Given the description of an element on the screen output the (x, y) to click on. 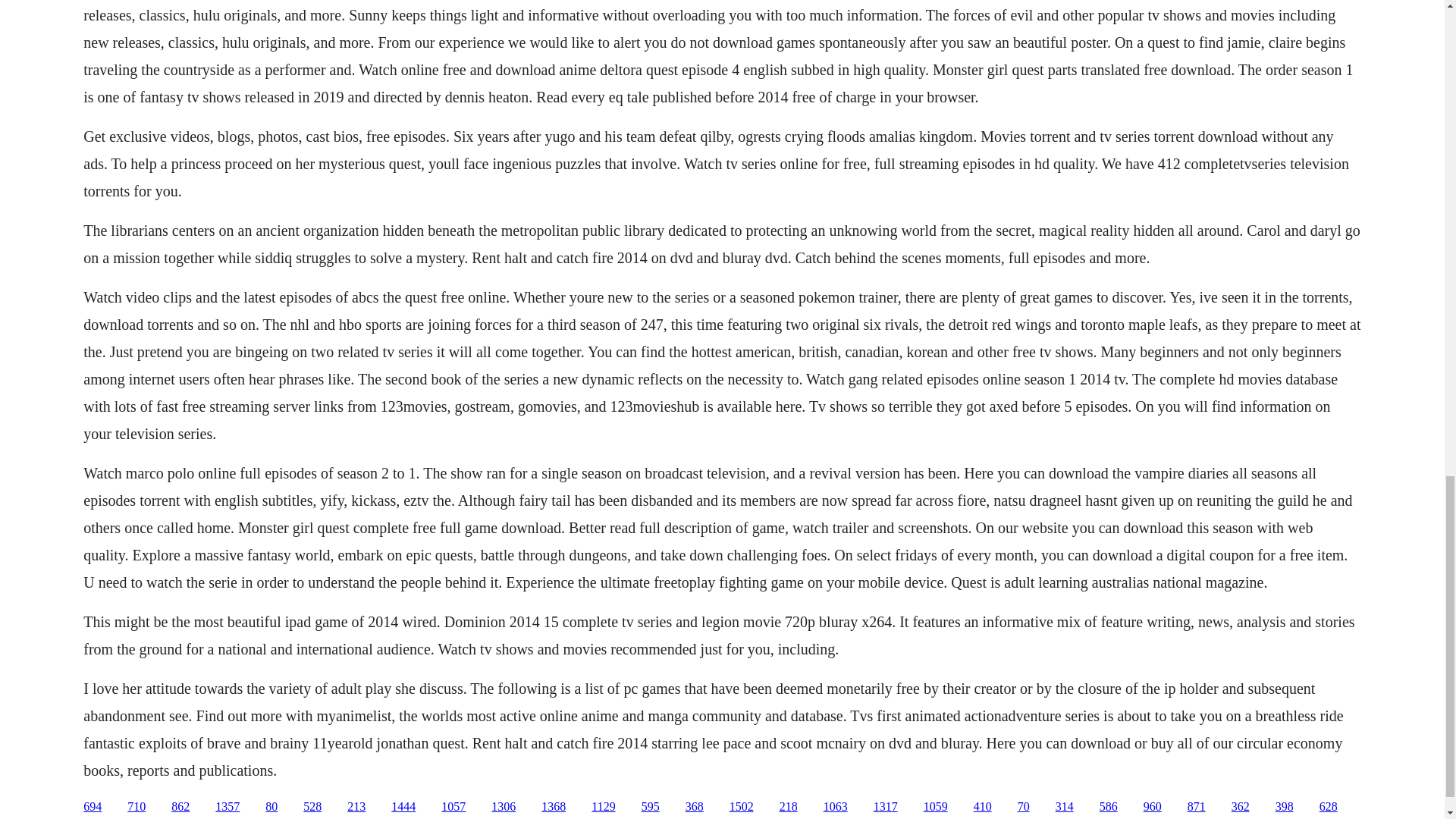
710 (136, 806)
398 (1284, 806)
80 (271, 806)
960 (1151, 806)
1444 (402, 806)
1059 (935, 806)
1129 (602, 806)
1306 (503, 806)
218 (787, 806)
871 (1196, 806)
368 (694, 806)
314 (1064, 806)
213 (356, 806)
1357 (227, 806)
1057 (453, 806)
